Given the description of an element on the screen output the (x, y) to click on. 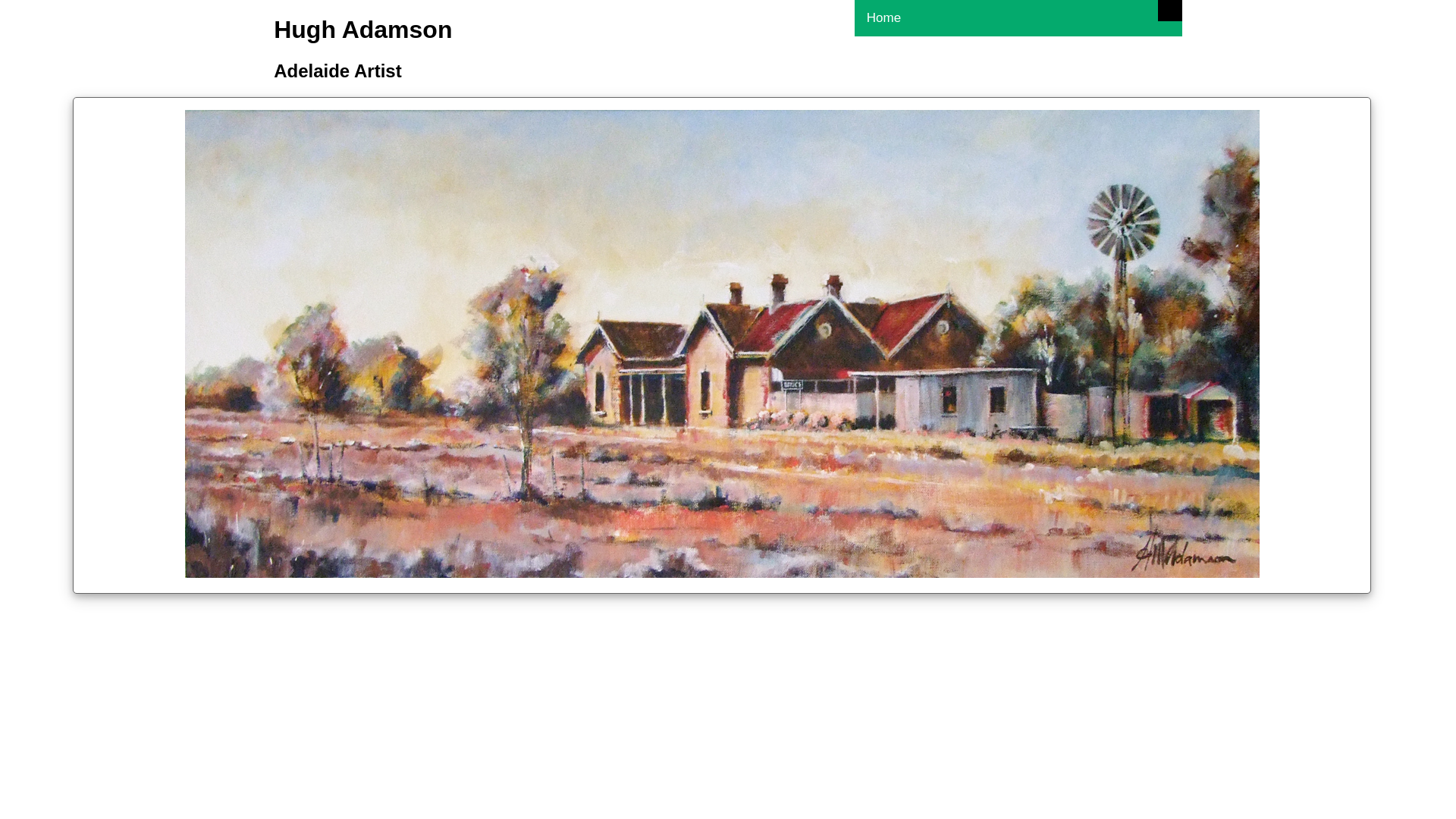
Home Element type: text (1018, 18)
